Given the description of an element on the screen output the (x, y) to click on. 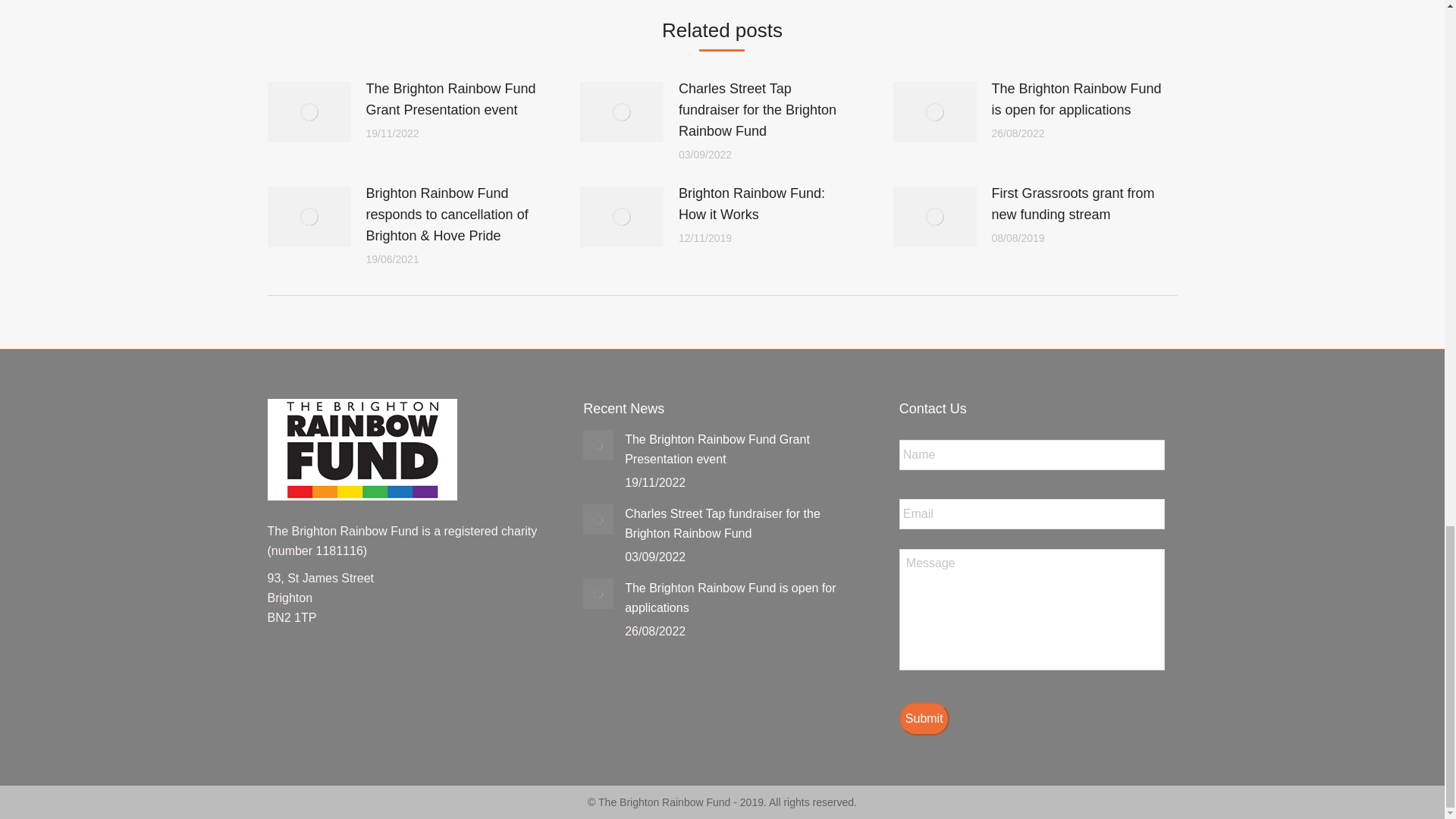
Submit (924, 718)
